Given the description of an element on the screen output the (x, y) to click on. 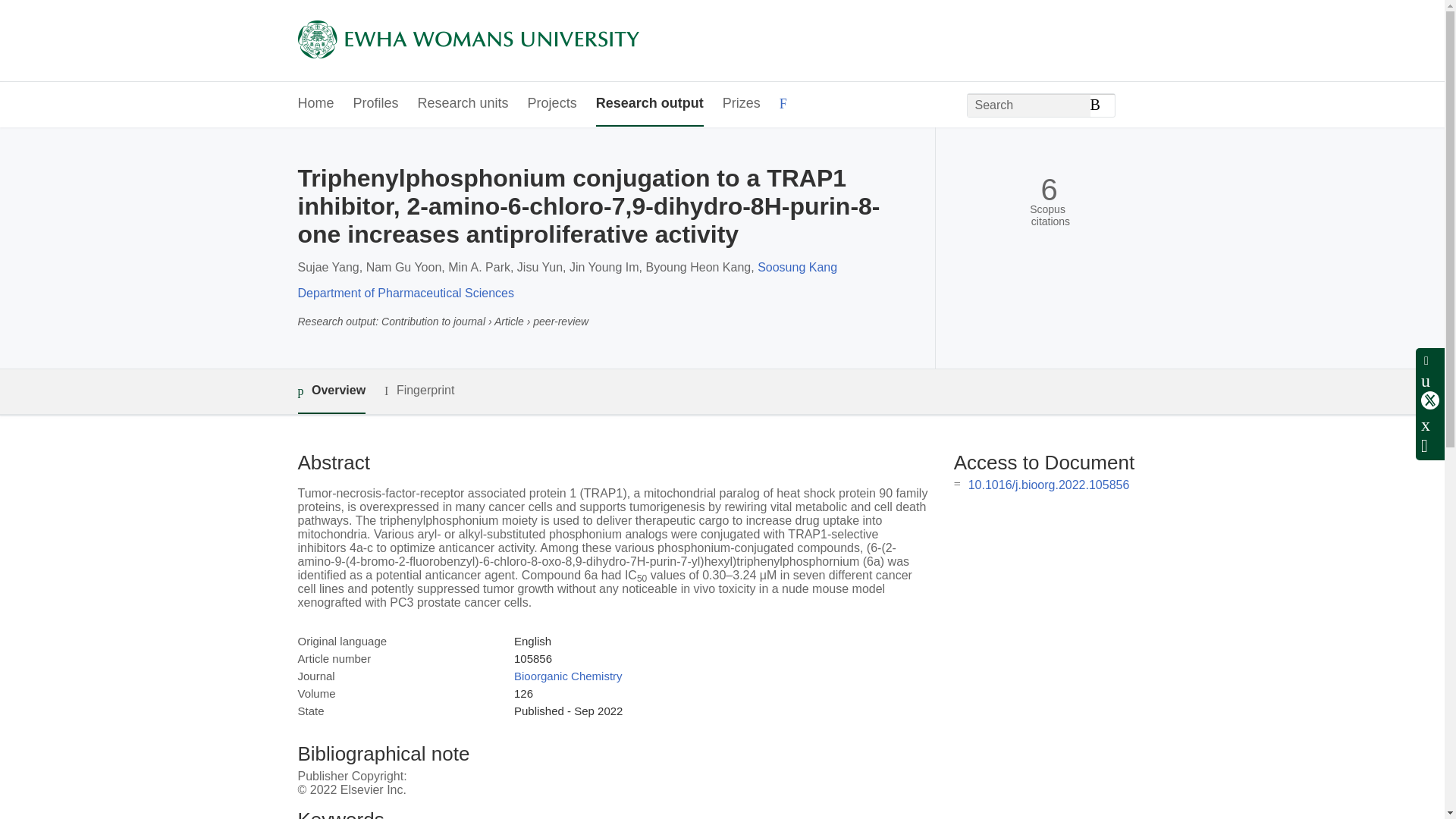
Prizes (741, 103)
Department of Pharmaceutical Sciences (405, 292)
Research output (649, 103)
Profiles (375, 103)
Home (315, 103)
Overview (331, 391)
Ewha Womans University Home (468, 40)
Research units (462, 103)
Soosung Kang (797, 267)
Bioorganic Chemistry (568, 675)
Projects (551, 103)
Fingerprint (419, 390)
